Given the description of an element on the screen output the (x, y) to click on. 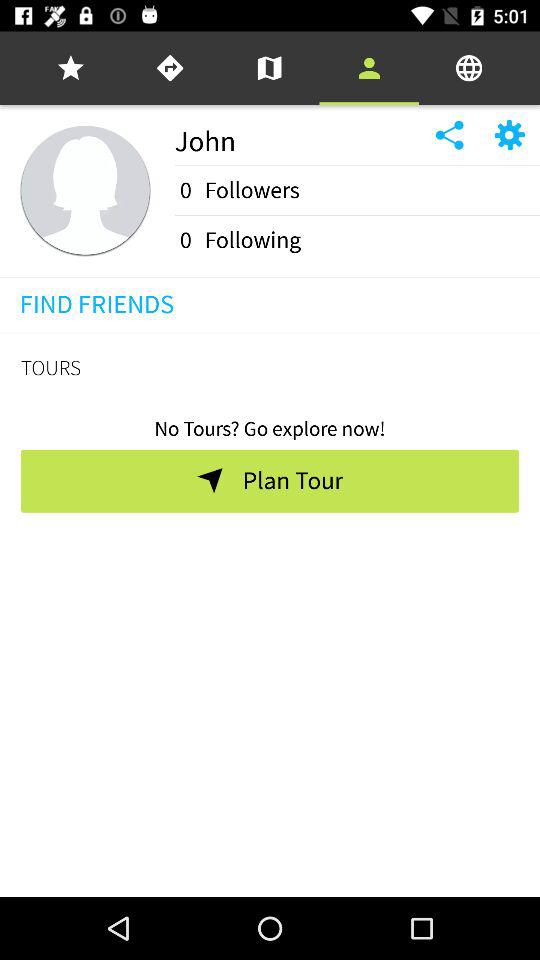
choose icon next to the 0 (251, 190)
